Given the description of an element on the screen output the (x, y) to click on. 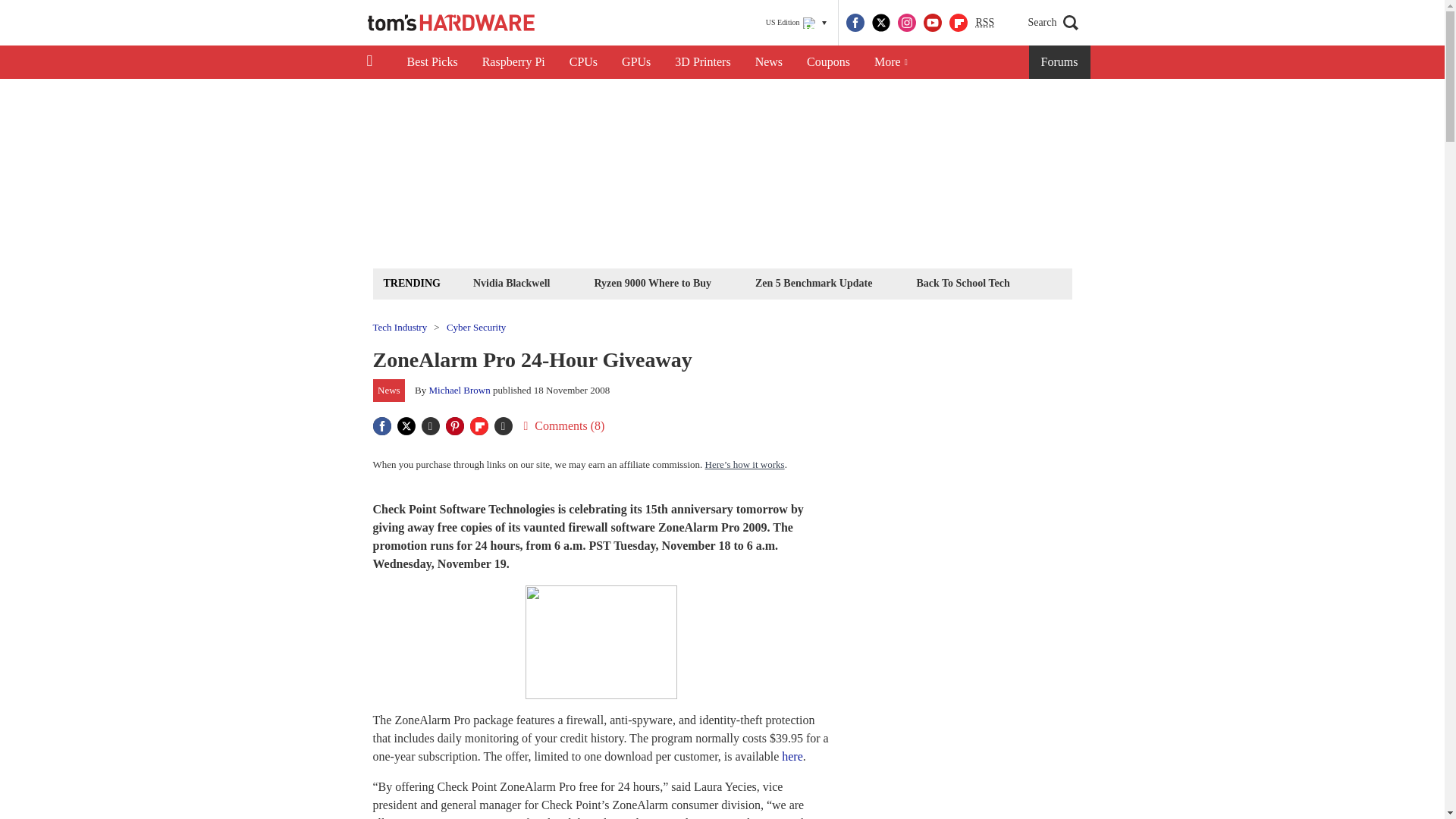
Coupons (827, 61)
CPUs (583, 61)
Really Simple Syndication (984, 21)
GPUs (636, 61)
3D Printers (702, 61)
RSS (984, 22)
Forums (1059, 61)
Best Picks (431, 61)
US Edition (796, 22)
News (768, 61)
